Given the description of an element on the screen output the (x, y) to click on. 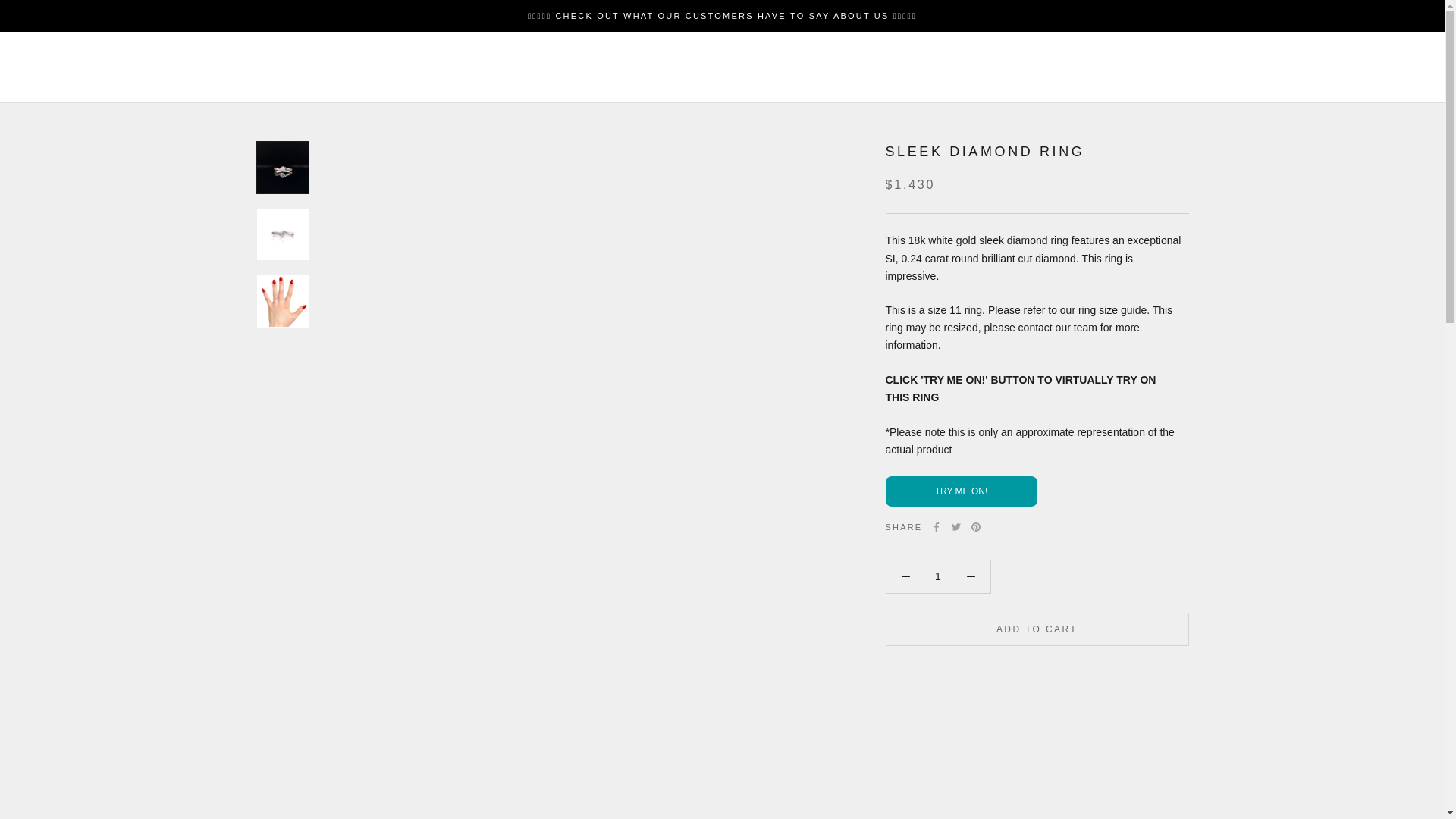
1 (938, 576)
